Given the description of an element on the screen output the (x, y) to click on. 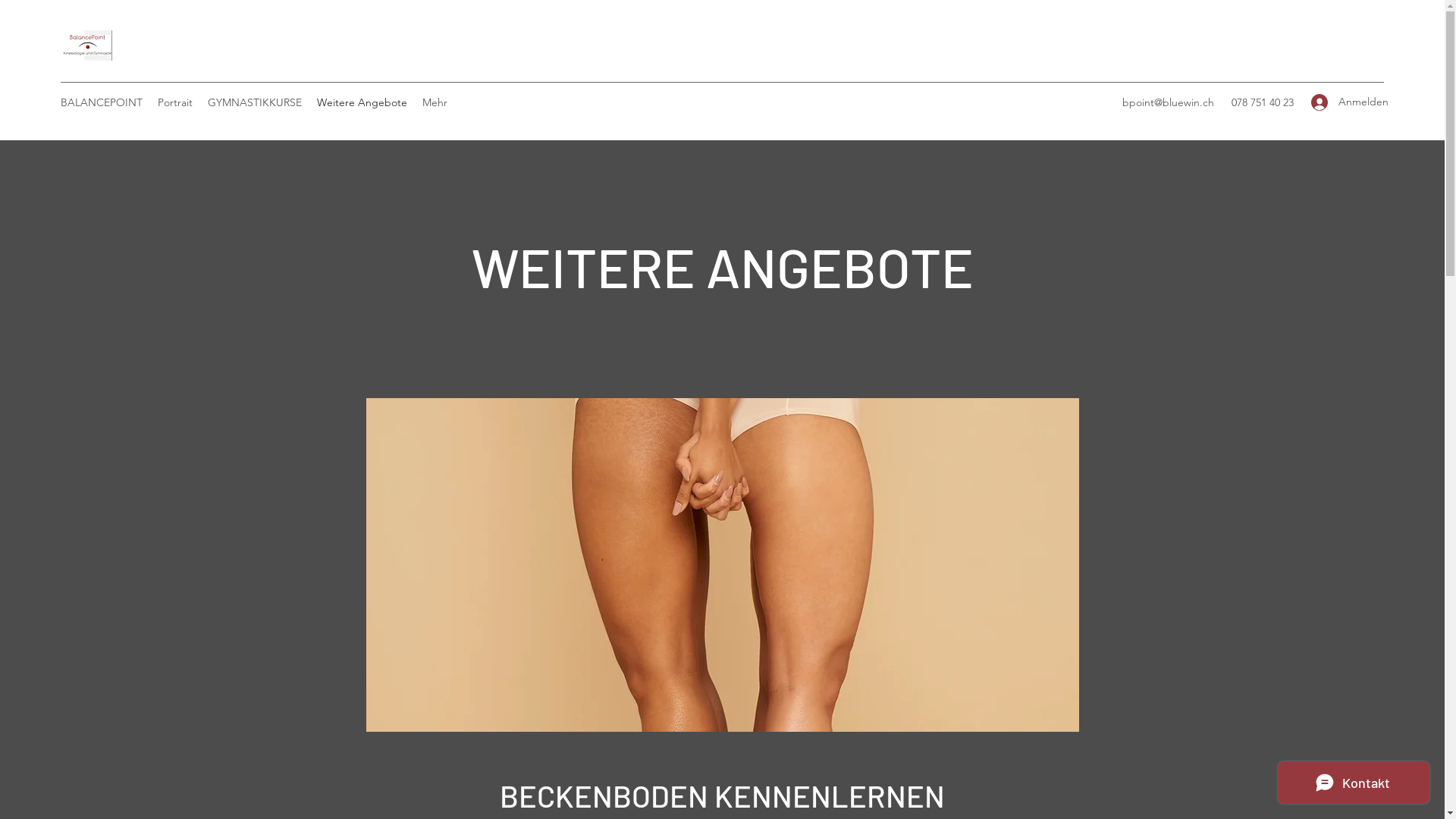
GYMNASTIKKURSE Element type: text (254, 102)
bpoint@bluewin.ch Element type: text (1168, 102)
Portrait Element type: text (175, 102)
Weitere Angebote Element type: text (361, 102)
BALANCEPOINT Element type: text (101, 102)
Anmelden Element type: text (1341, 101)
